Given the description of an element on the screen output the (x, y) to click on. 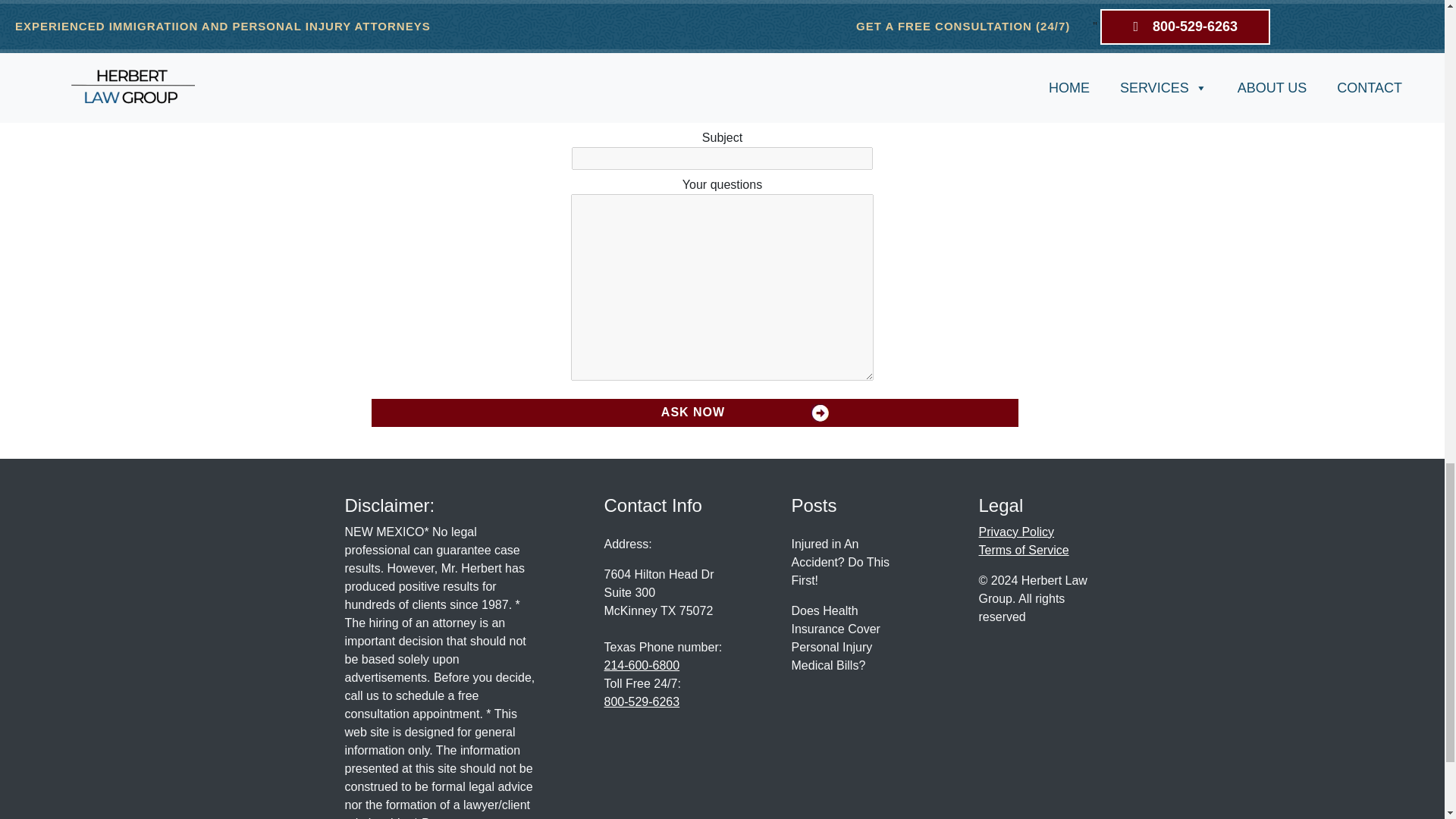
Ask Now (694, 412)
Ask Now (694, 412)
Privacy Policy (1016, 531)
Injured in An Accident? Do This First! (852, 562)
Terms of Service (1023, 549)
214-600-6800 (641, 665)
Does Health Insurance Cover Personal Injury Medical Bills? (852, 637)
800-529-6263 (641, 701)
